Given the description of an element on the screen output the (x, y) to click on. 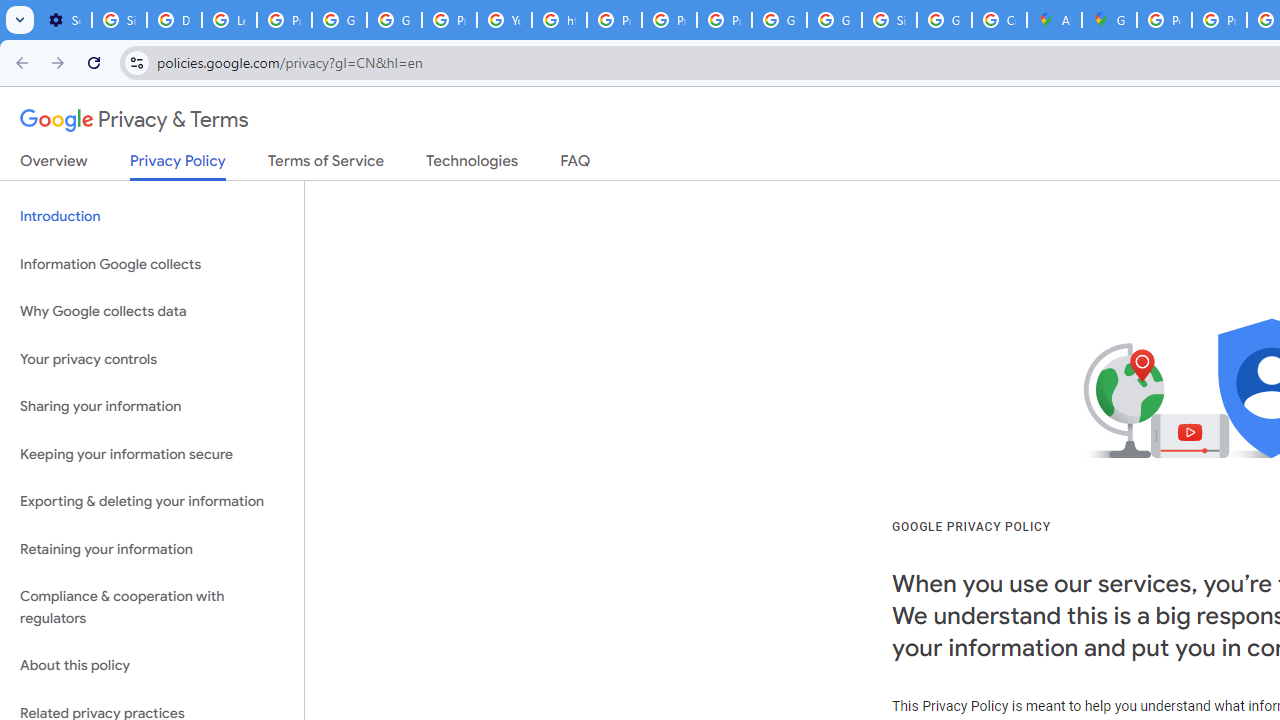
Delete photos & videos - Computer - Google Photos Help (174, 20)
Policy Accountability and Transparency - Transparency Center (1163, 20)
